Given the description of an element on the screen output the (x, y) to click on. 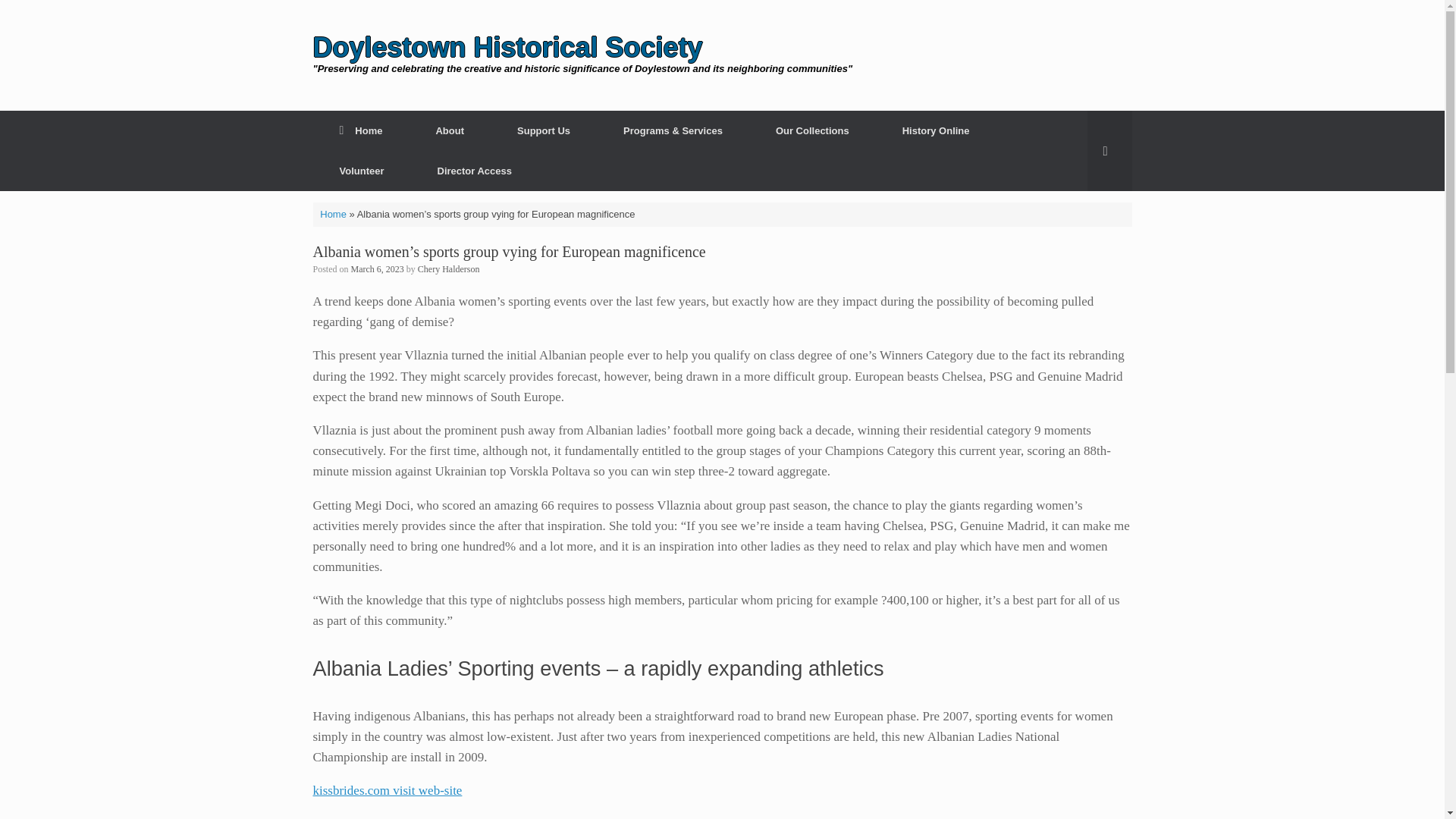
History Online (935, 130)
Director Access (474, 169)
8:15 am (377, 268)
View all posts by Chery Halderson (448, 268)
Volunteer (361, 169)
March 6, 2023 (377, 268)
Support Us (543, 130)
Our Collections (812, 130)
Home (361, 130)
About (449, 130)
Home (333, 214)
